Given the description of an element on the screen output the (x, y) to click on. 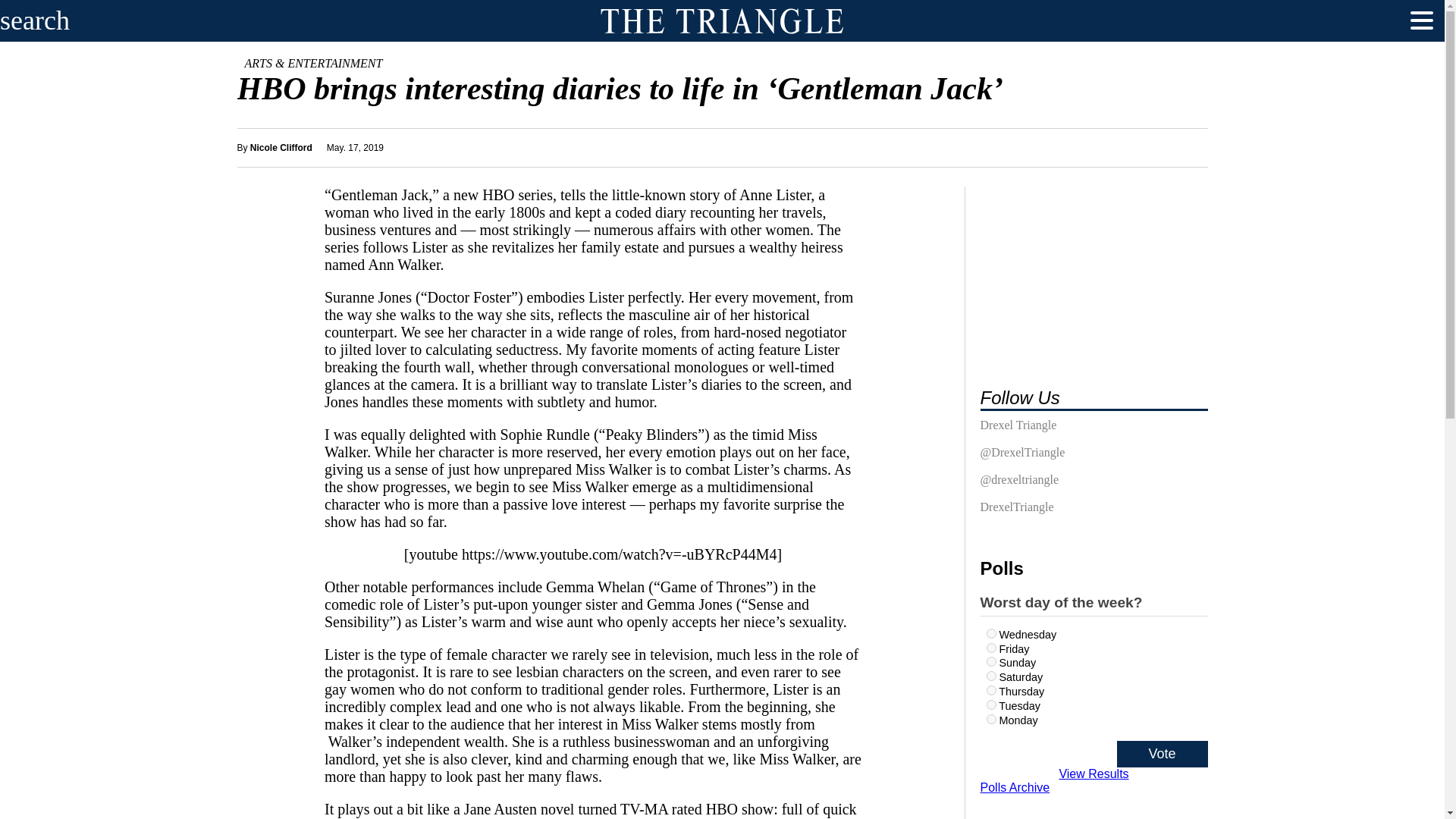
Nicole Clifford (281, 147)
577 (990, 661)
Drexel Triangle (1018, 428)
Polls Archive (1014, 787)
View Results Of This Poll (1093, 773)
DrexelTriangle (1015, 510)
579 (990, 705)
Vote (1161, 754)
581 (990, 690)
Posts by Nicole Clifford (281, 147)
